Given the description of an element on the screen output the (x, y) to click on. 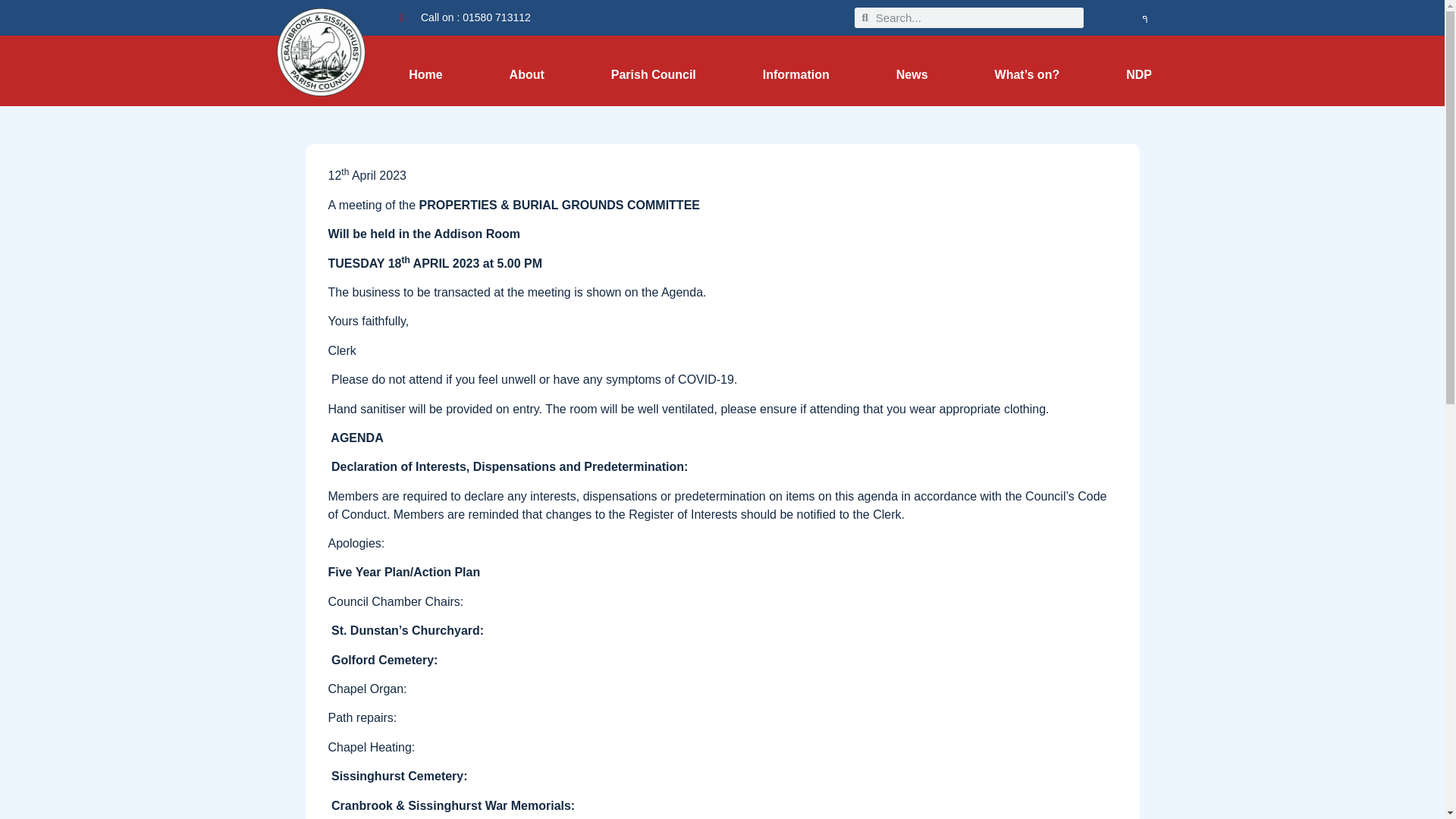
Parish Council (653, 74)
About (527, 74)
Information (796, 74)
Home (425, 74)
